Given the description of an element on the screen output the (x, y) to click on. 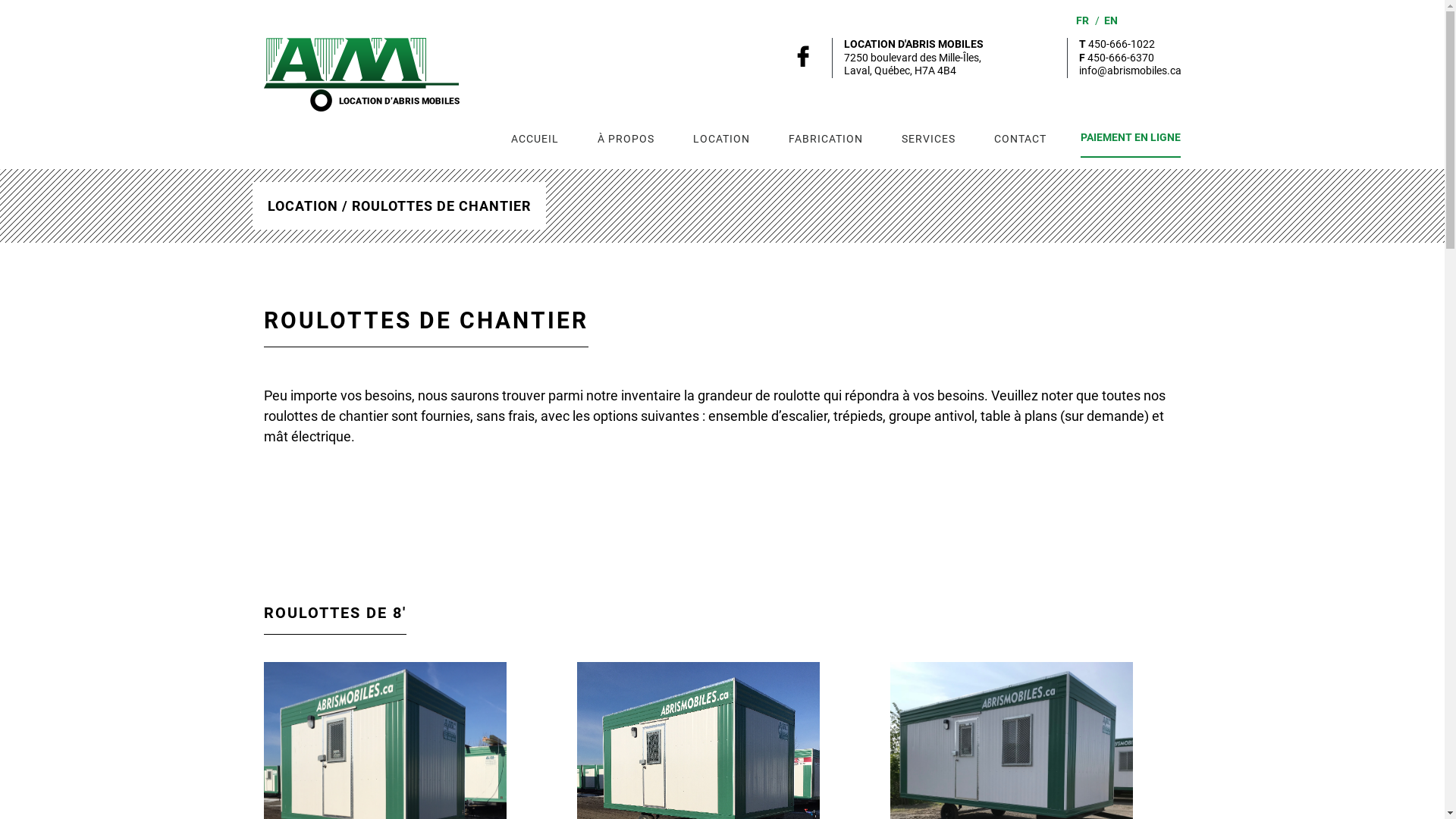
FR Element type: text (1081, 20)
PAIEMENT EN LIGNE Element type: text (1129, 138)
info@abrismobiles.ca Element type: text (1129, 70)
LOCATION Element type: text (720, 138)
CONTACT Element type: text (1020, 138)
EN Element type: text (1110, 20)
FABRICATION Element type: text (825, 138)
ACCUEIL Element type: text (533, 138)
SERVICES Element type: text (928, 138)
